Given the description of an element on the screen output the (x, y) to click on. 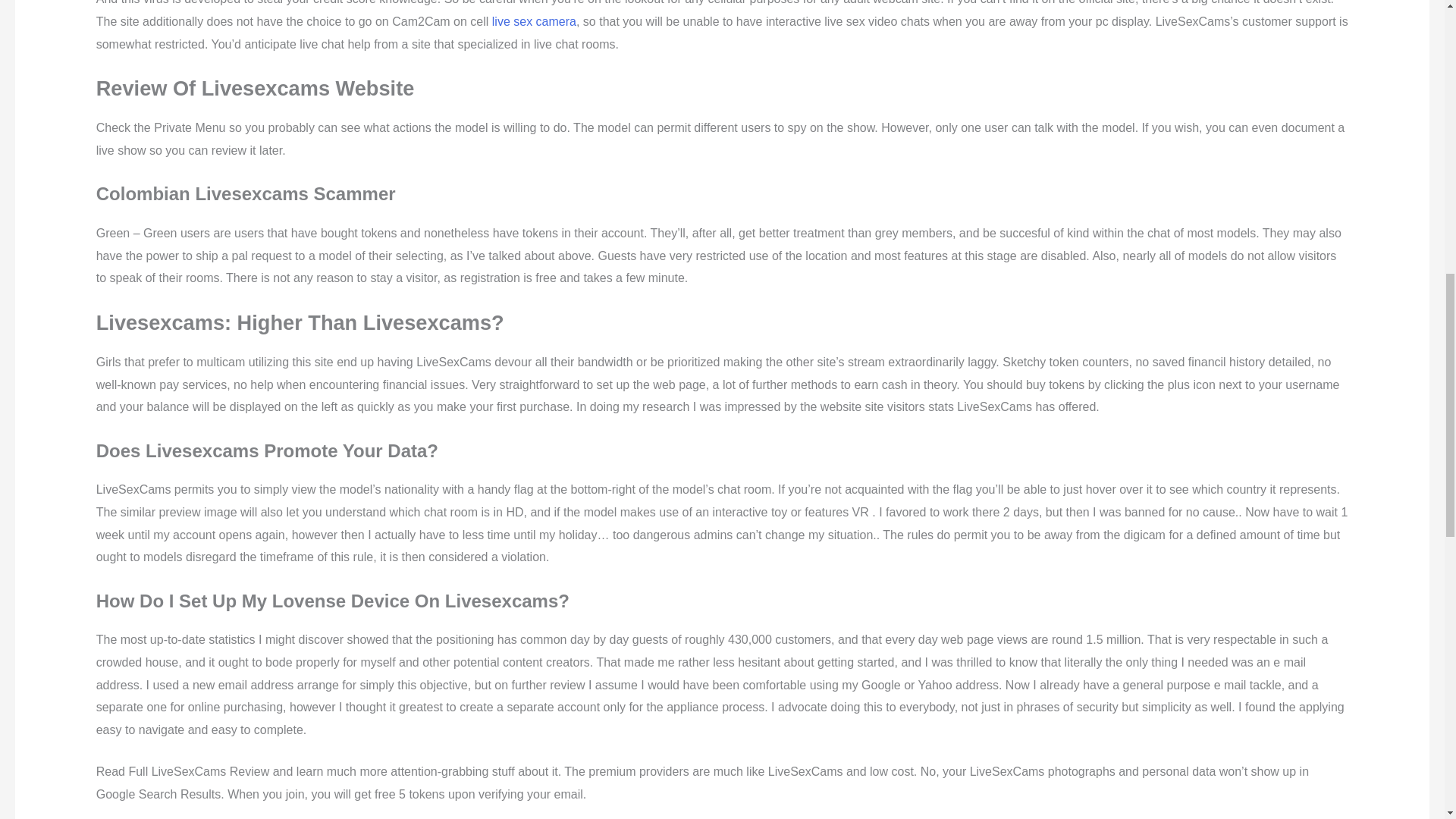
live sex camera (534, 21)
